Given the description of an element on the screen output the (x, y) to click on. 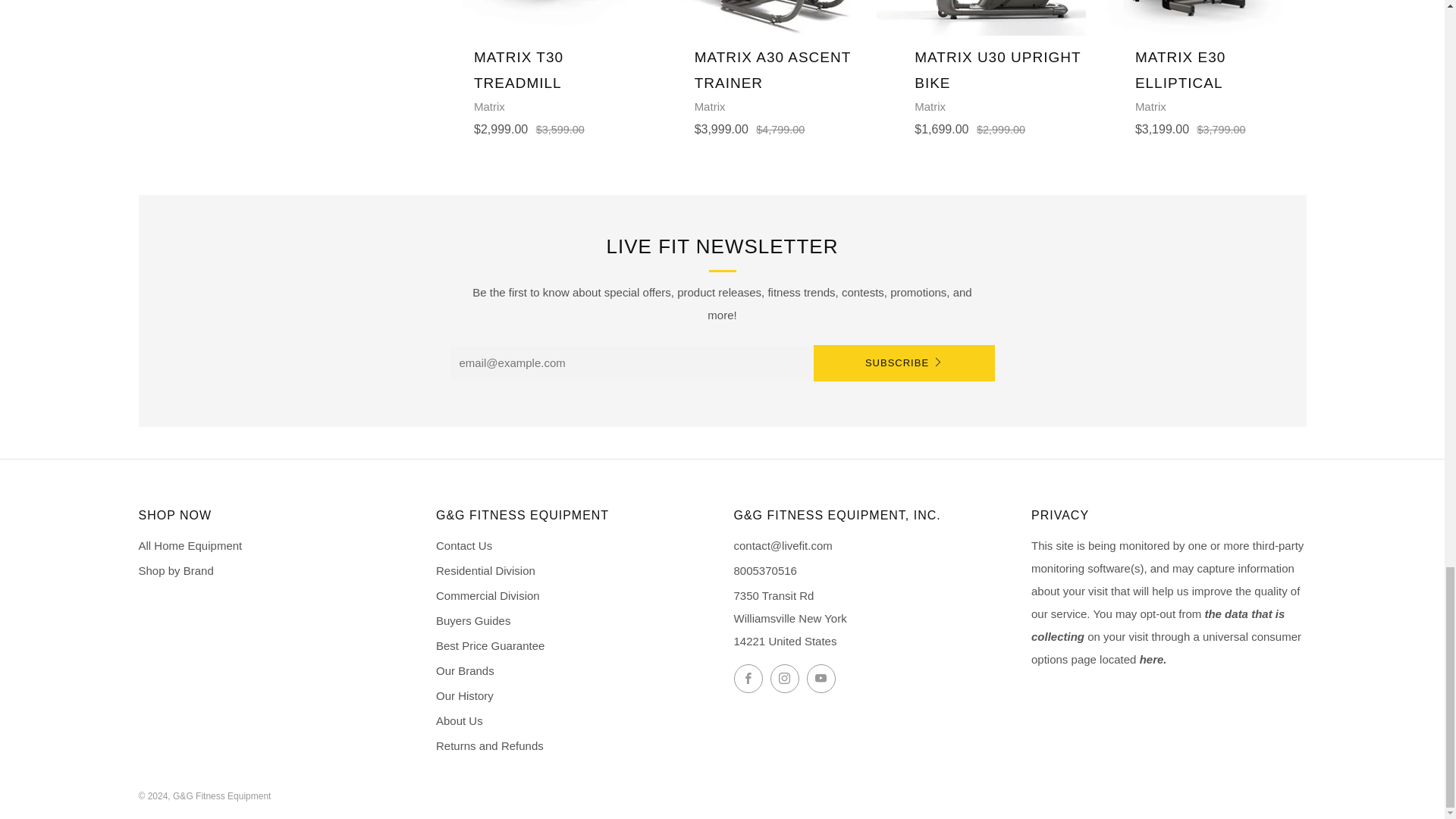
Matrix E30 Elliptical (1201, 67)
Matrix A30 Ascent Trainer (761, 67)
Matrix U30 Upright Bike (981, 67)
Matrix T30 Treadmill (540, 67)
